Given the description of an element on the screen output the (x, y) to click on. 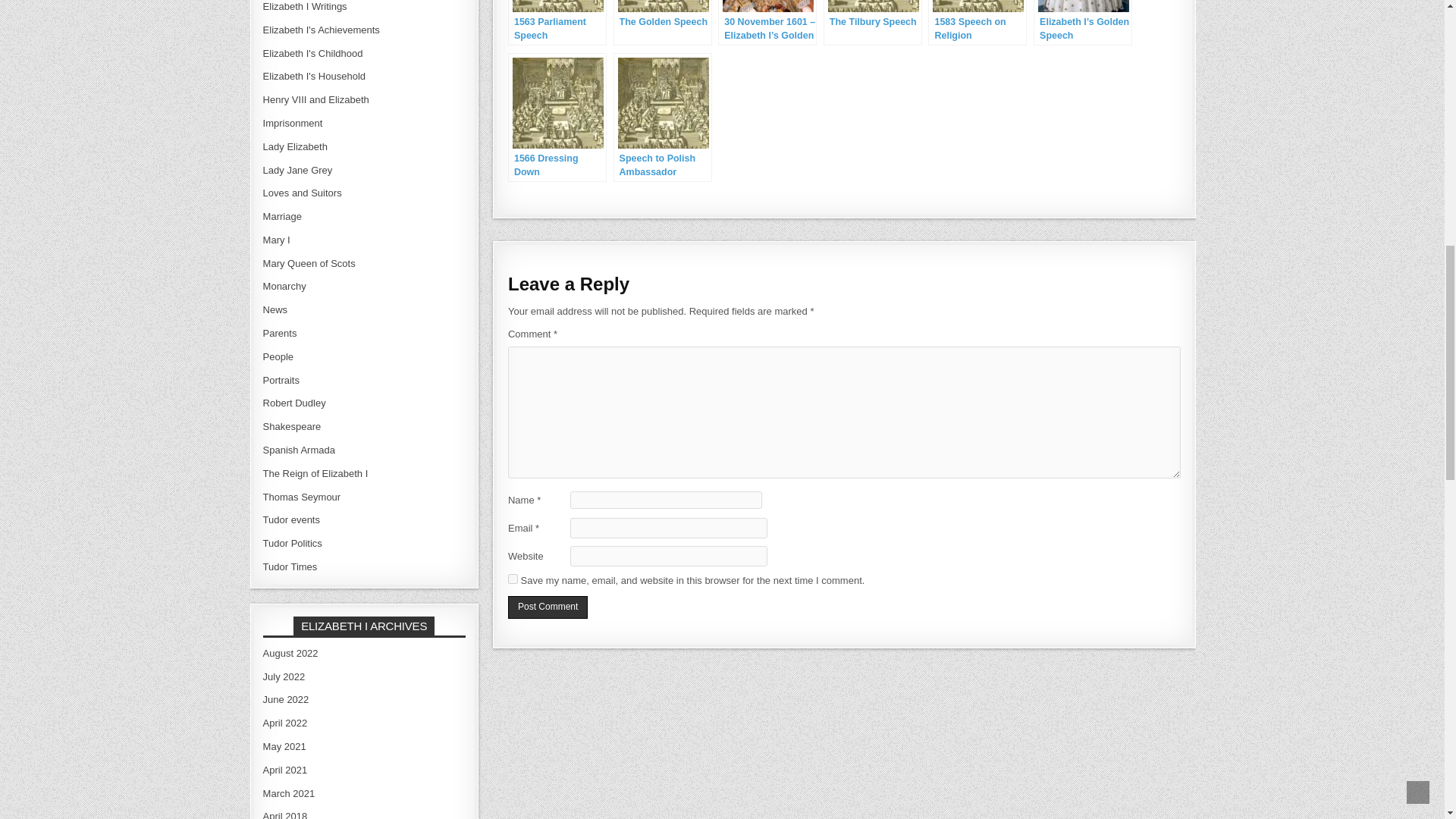
1583 Speech on Religion (977, 22)
Post Comment (548, 607)
Post Comment (548, 607)
The Golden Speech (661, 22)
yes (513, 578)
1563 Parliament Speech (557, 22)
1563 Parliament Speech (557, 22)
The Tilbury Speech (872, 22)
The Tilbury Speech (872, 22)
1583 Speech on Religion (977, 22)
